Given the description of an element on the screen output the (x, y) to click on. 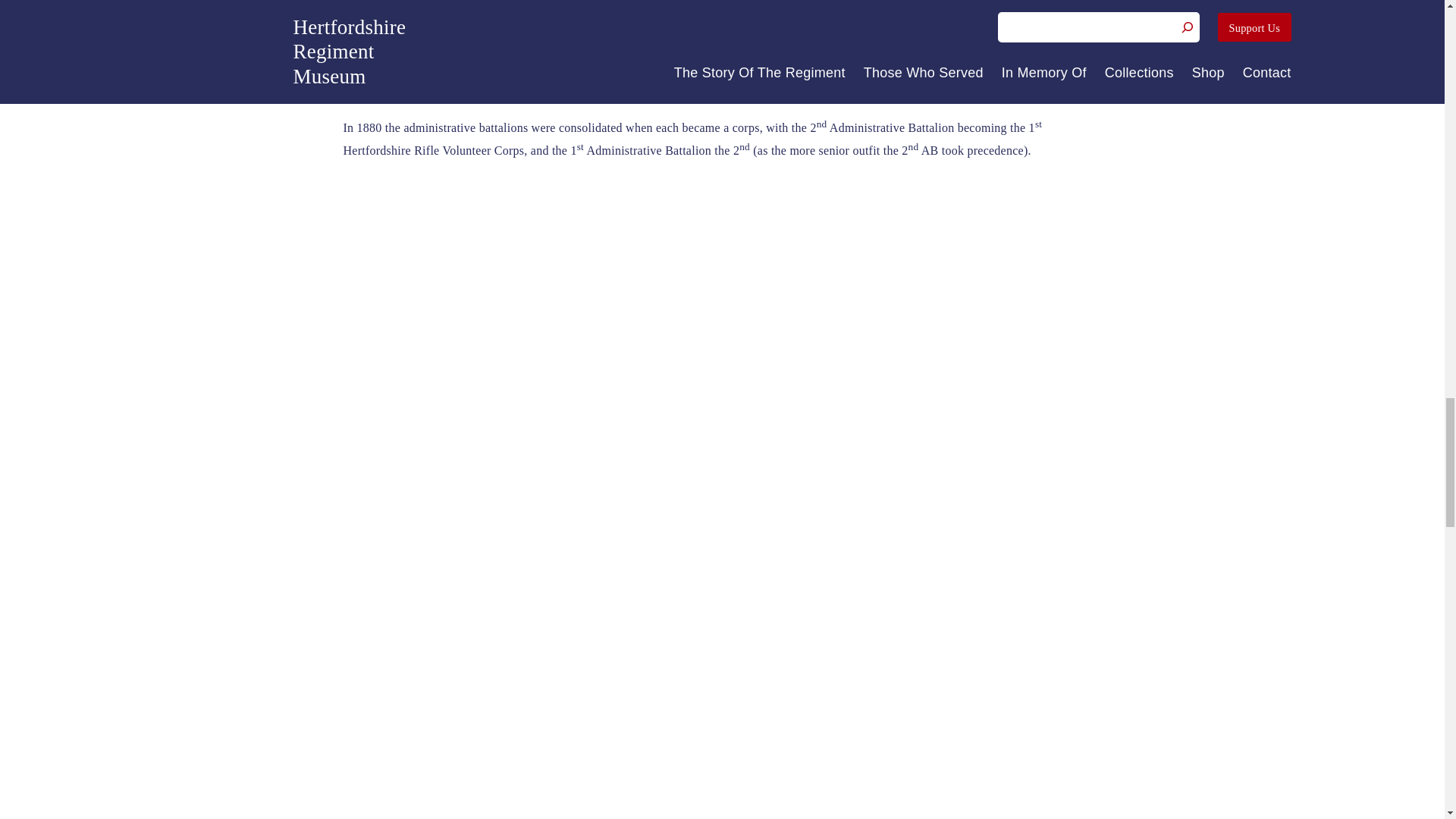
1st Hertfordshire Volunteers at camp, circa 1898. (332, 666)
1st Hertfordshire Volunteers at camp, circa 1895. (1110, 335)
1st Hertfordshire Officers, Aldershot, 1893. (332, 335)
1st Hertfordshire Volunteers at camp, circa 1895. (722, 335)
1st Hertfordshire Volunteers at camp, circa 1900. (1110, 666)
1st Hertfordshire Volunteers at camp, circa 1900. (722, 666)
